Given the description of an element on the screen output the (x, y) to click on. 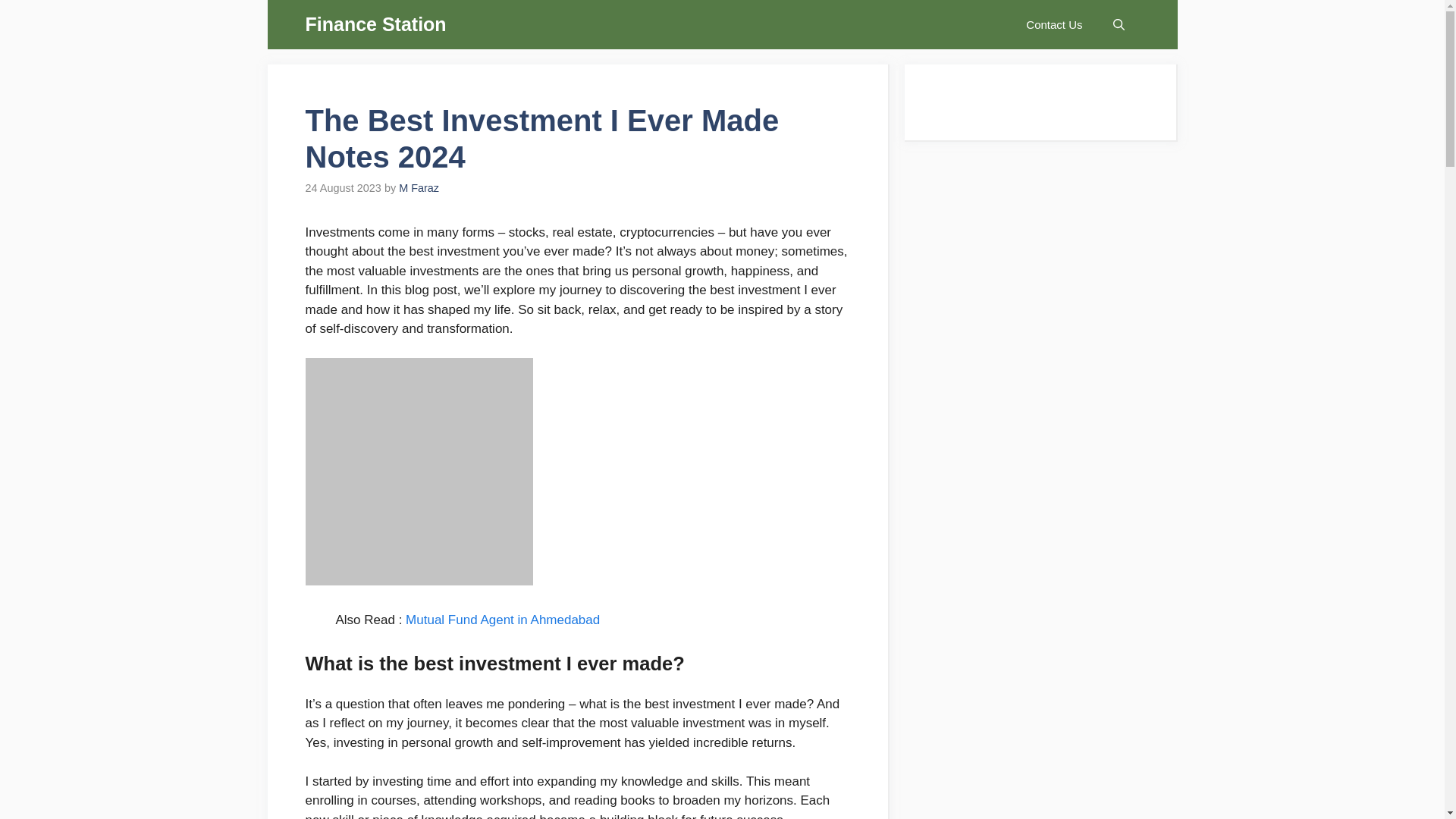
Contact Us (1053, 24)
Finance Station (374, 24)
Mutual Fund Agent in Ahmedabad (502, 619)
View all posts by M Faraz (418, 187)
M Faraz (418, 187)
